Given the description of an element on the screen output the (x, y) to click on. 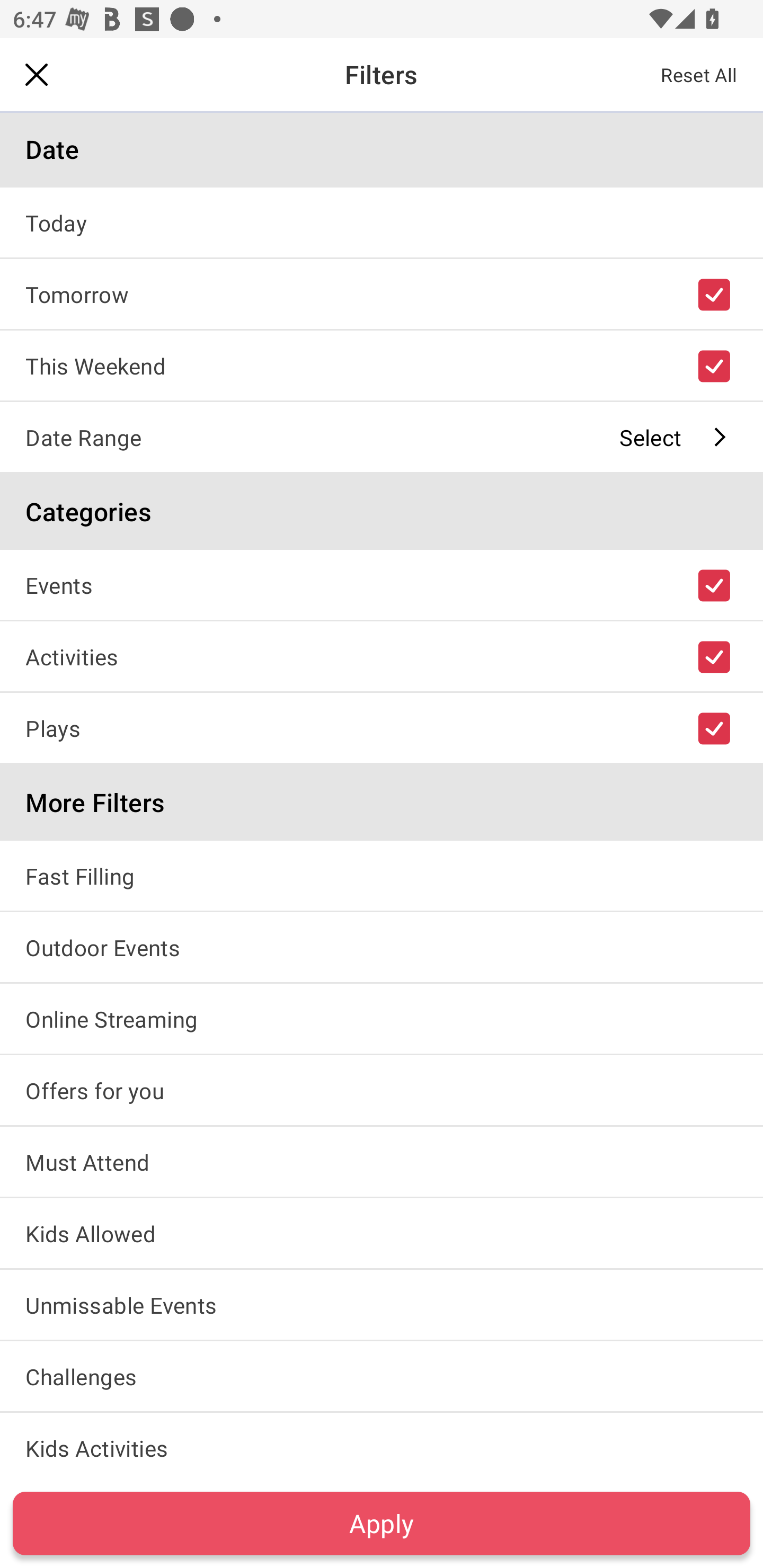
Close (36, 74)
Reset All (699, 74)
Today (381, 222)
Tomorrow  (381, 293)
This Weekend  (381, 364)
Date Range Select  Next (381, 436)
Events  (381, 584)
Activities  (381, 655)
Plays  (381, 727)
Fast Filling (381, 875)
Outdoor Events (381, 946)
Online Streaming (381, 1018)
Offers for you (381, 1090)
Must Attend (381, 1161)
Kids Allowed (381, 1232)
Unmissable Events (381, 1304)
Challenges (381, 1375)
Kids Activities (381, 1445)
Apply (381, 1523)
